Given the description of an element on the screen output the (x, y) to click on. 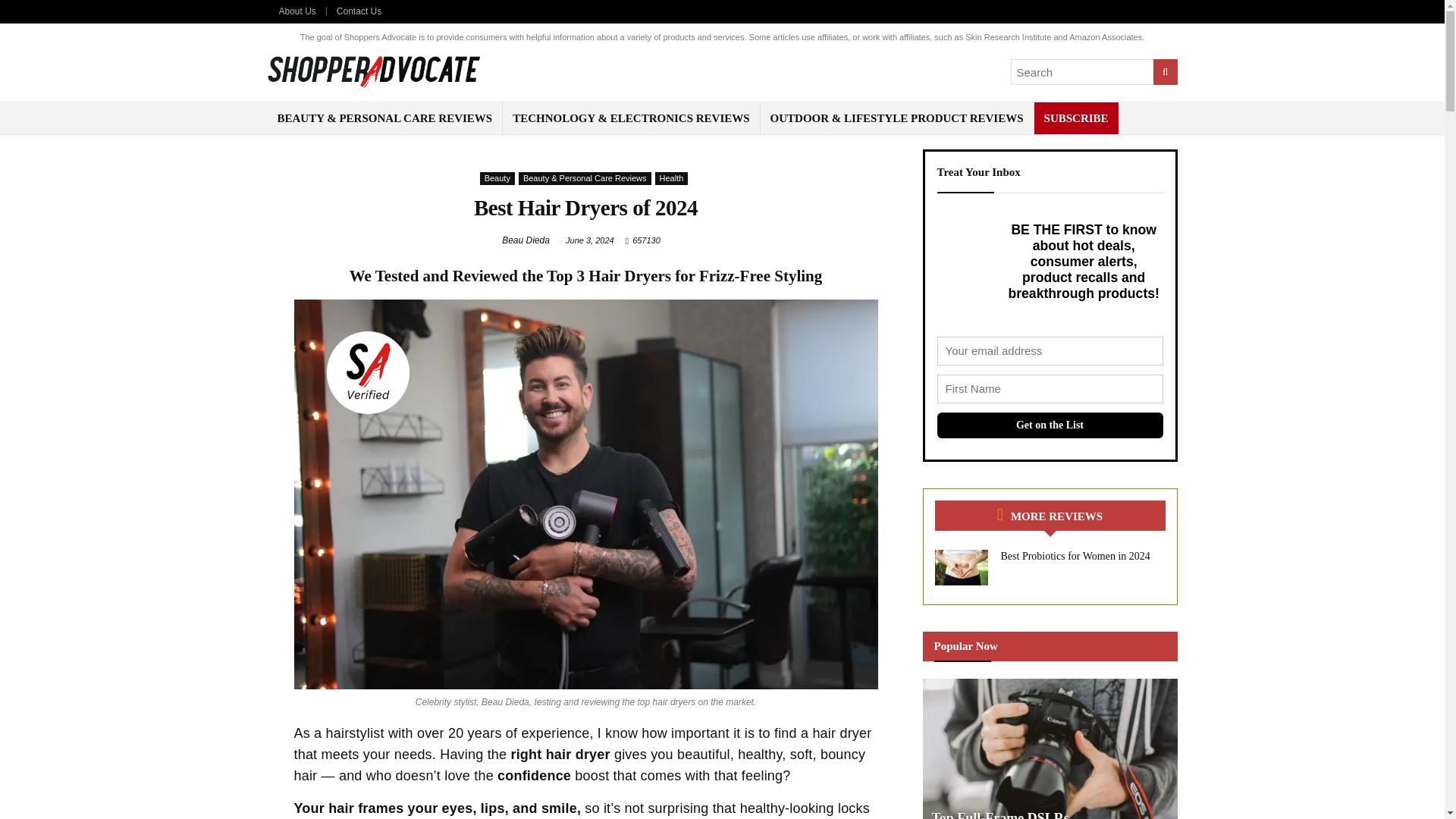
Beauty (497, 178)
Beau Dieda (526, 240)
Health (671, 178)
View all posts in Beauty (497, 178)
View all posts in Health (671, 178)
SUBSCRIBE (1075, 118)
About Us (297, 10)
Get on the List (1050, 425)
Contact Us (358, 10)
